Given the description of an element on the screen output the (x, y) to click on. 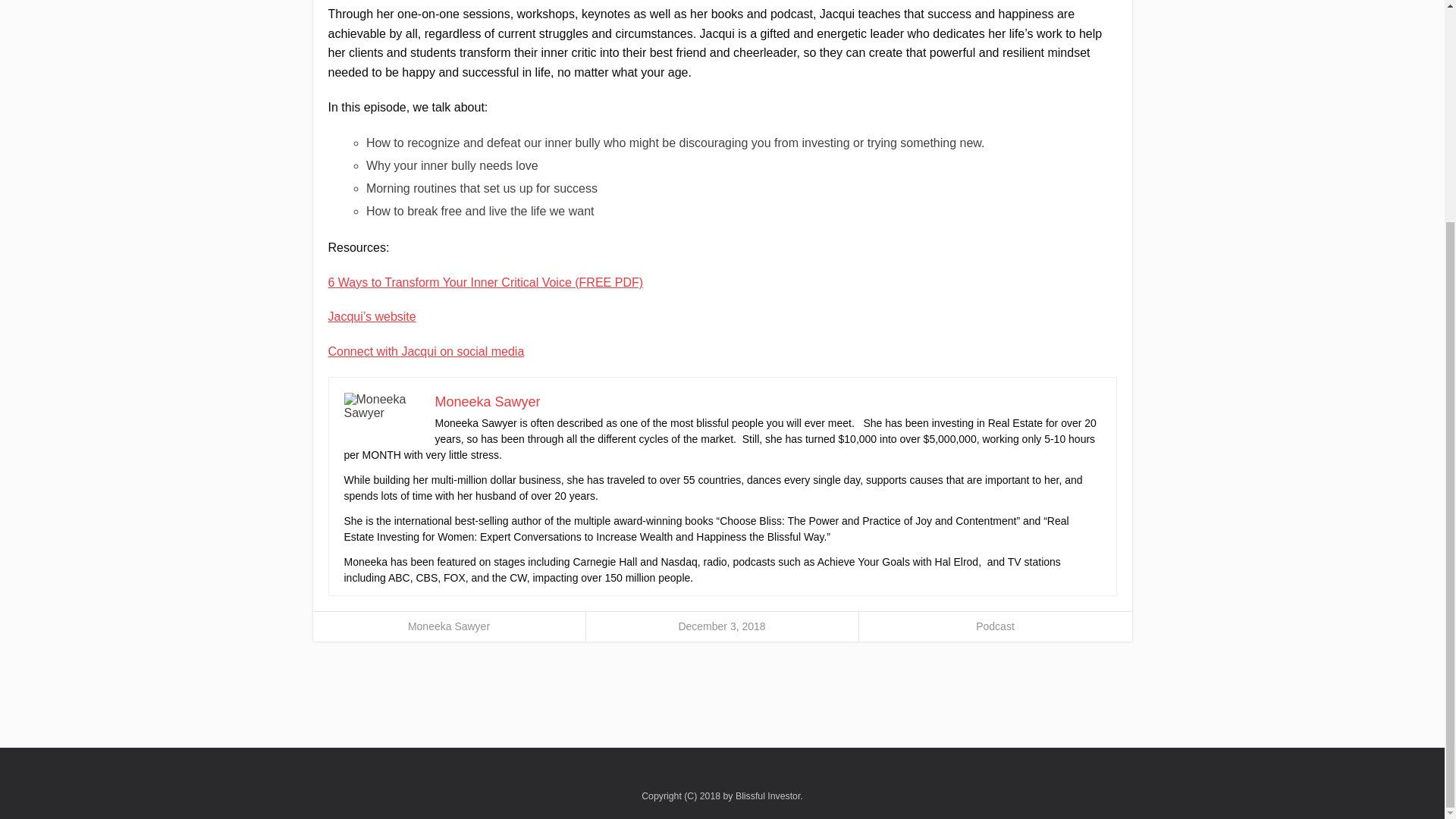
Connect with Jacqui on social media (425, 350)
Moneeka Sawyer (448, 625)
Moneeka Sawyer (487, 401)
Podcast (994, 625)
